Given the description of an element on the screen output the (x, y) to click on. 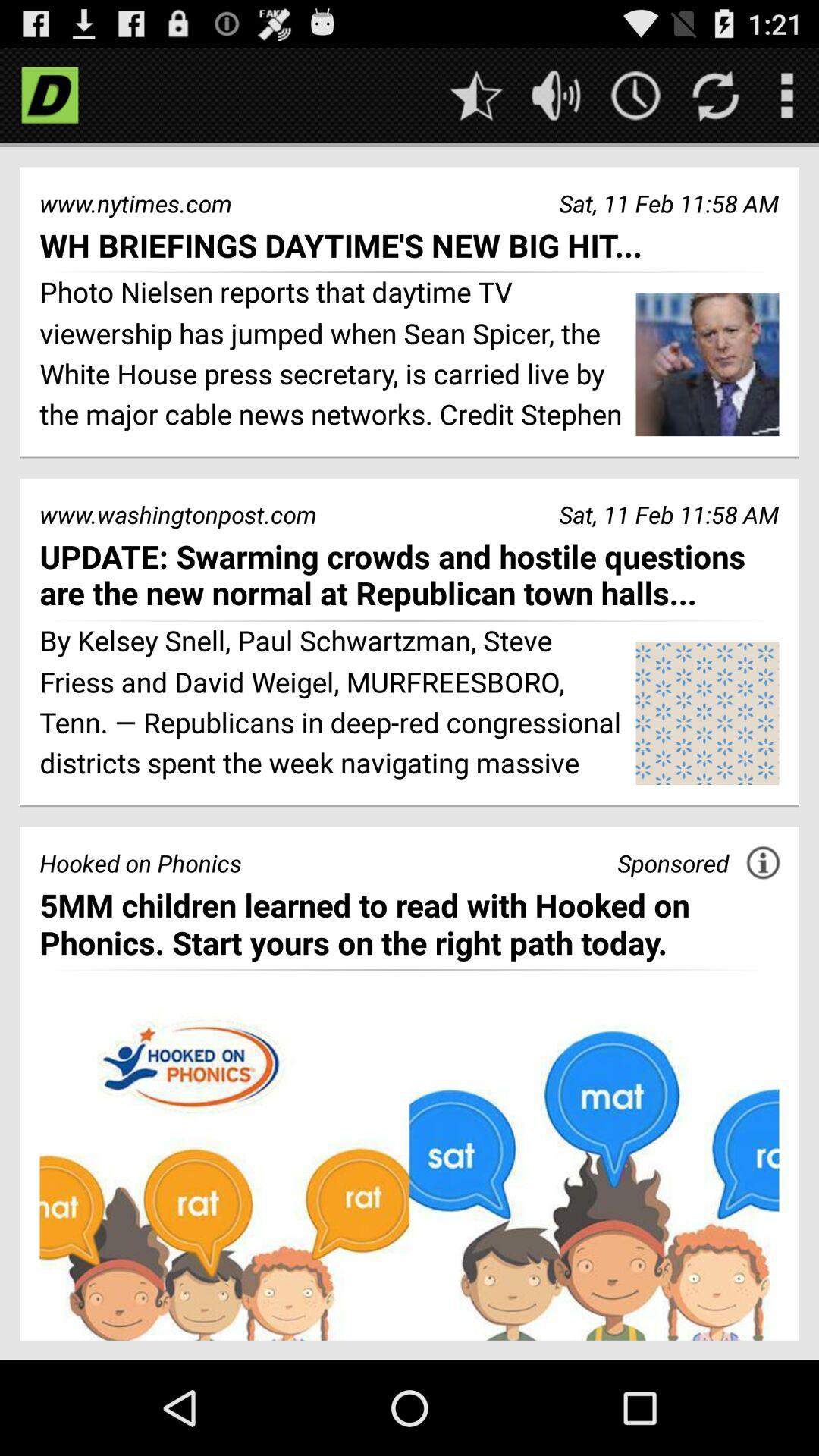
swipe until the wh briefings daytime app (409, 244)
